Given the description of an element on the screen output the (x, y) to click on. 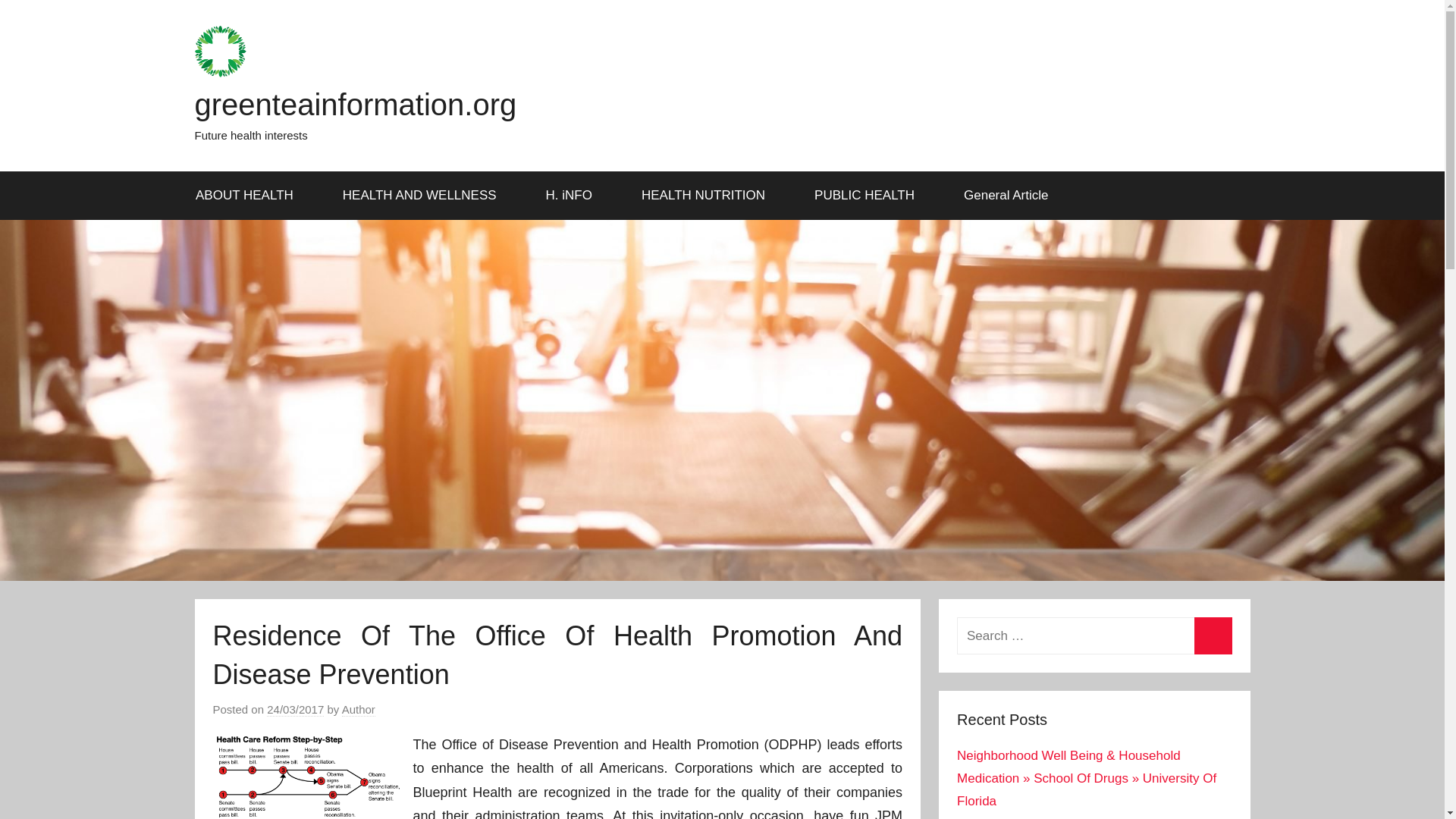
HEALTH AND WELLNESS (424, 195)
H. iNFO (573, 195)
Search for: (1093, 635)
ABOUT HEALTH (249, 195)
View all posts by Author (358, 709)
Author (358, 709)
General Article (1006, 195)
greenteainformation.org (354, 104)
HEALTH NUTRITION (707, 195)
PUBLIC HEALTH (869, 195)
